Given the description of an element on the screen output the (x, y) to click on. 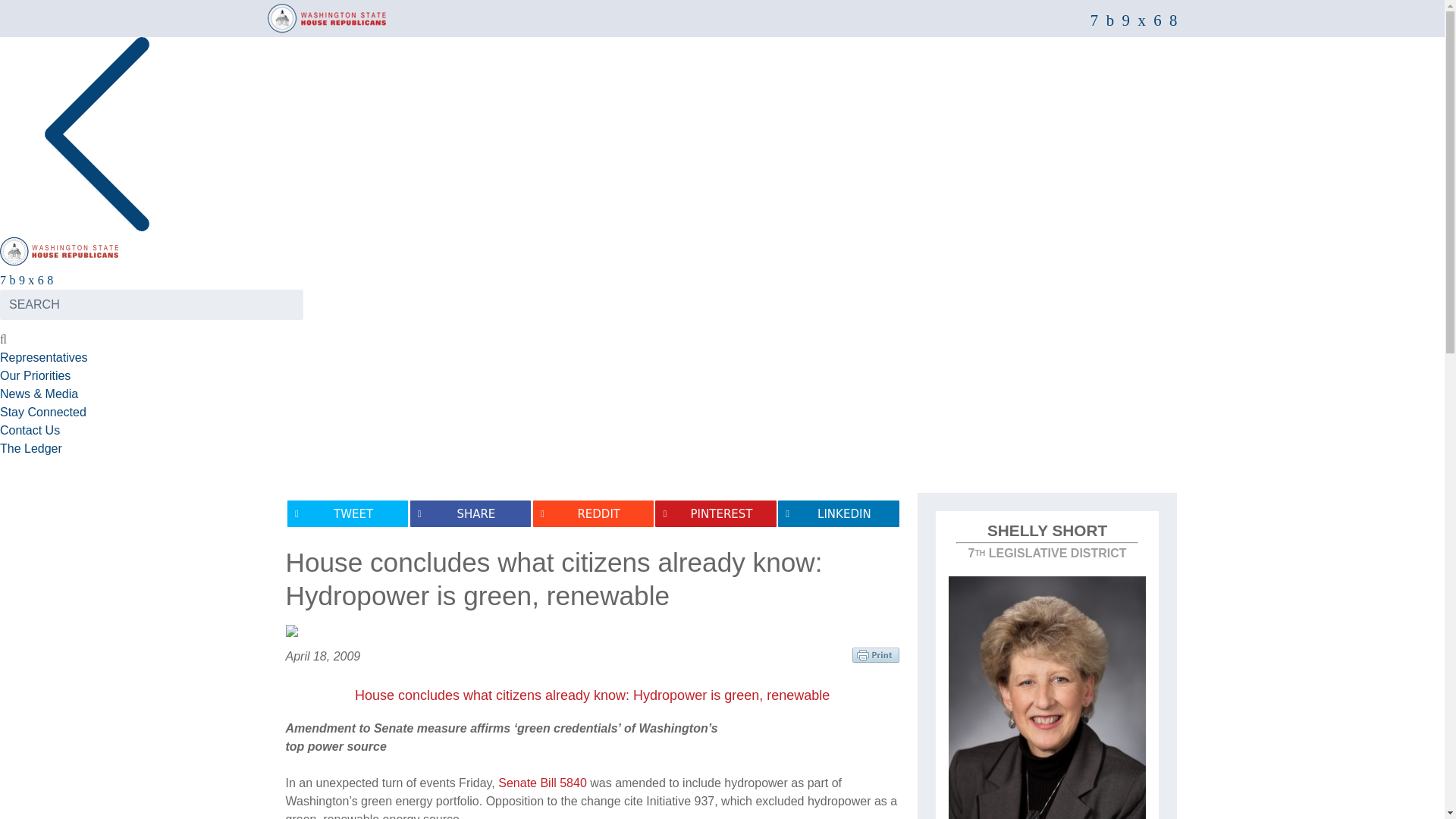
Share on Pinterest (715, 513)
LINKEDIN (837, 513)
PINTEREST (715, 513)
Submit to Reddit (592, 513)
The Ledger (31, 448)
Stay Connected (42, 411)
Our Priorities (34, 375)
Representatives (43, 357)
TWEET (346, 513)
Senate Bill 5840 (541, 782)
Contact Us (29, 430)
SHARE (470, 513)
REDDIT (592, 513)
Share on Linkedin (837, 513)
Share on Facebook (470, 513)
